Given the description of an element on the screen output the (x, y) to click on. 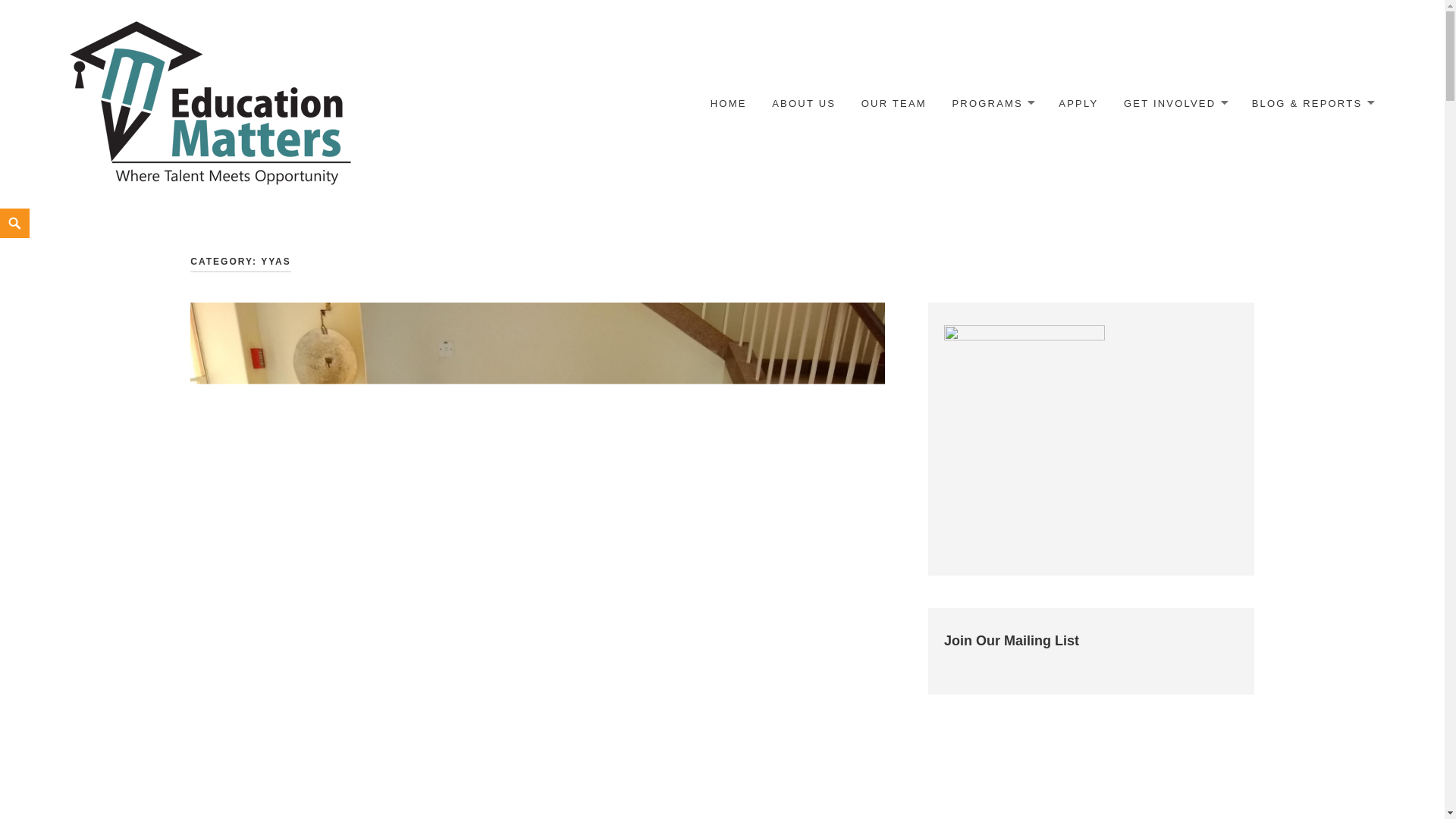
GET INVOLVED (1174, 104)
APPLY (1077, 103)
PROGRAMS (991, 104)
Education Matters (212, 103)
OUR TEAM (893, 103)
HOME (728, 103)
ABOUT US (803, 103)
